Given the description of an element on the screen output the (x, y) to click on. 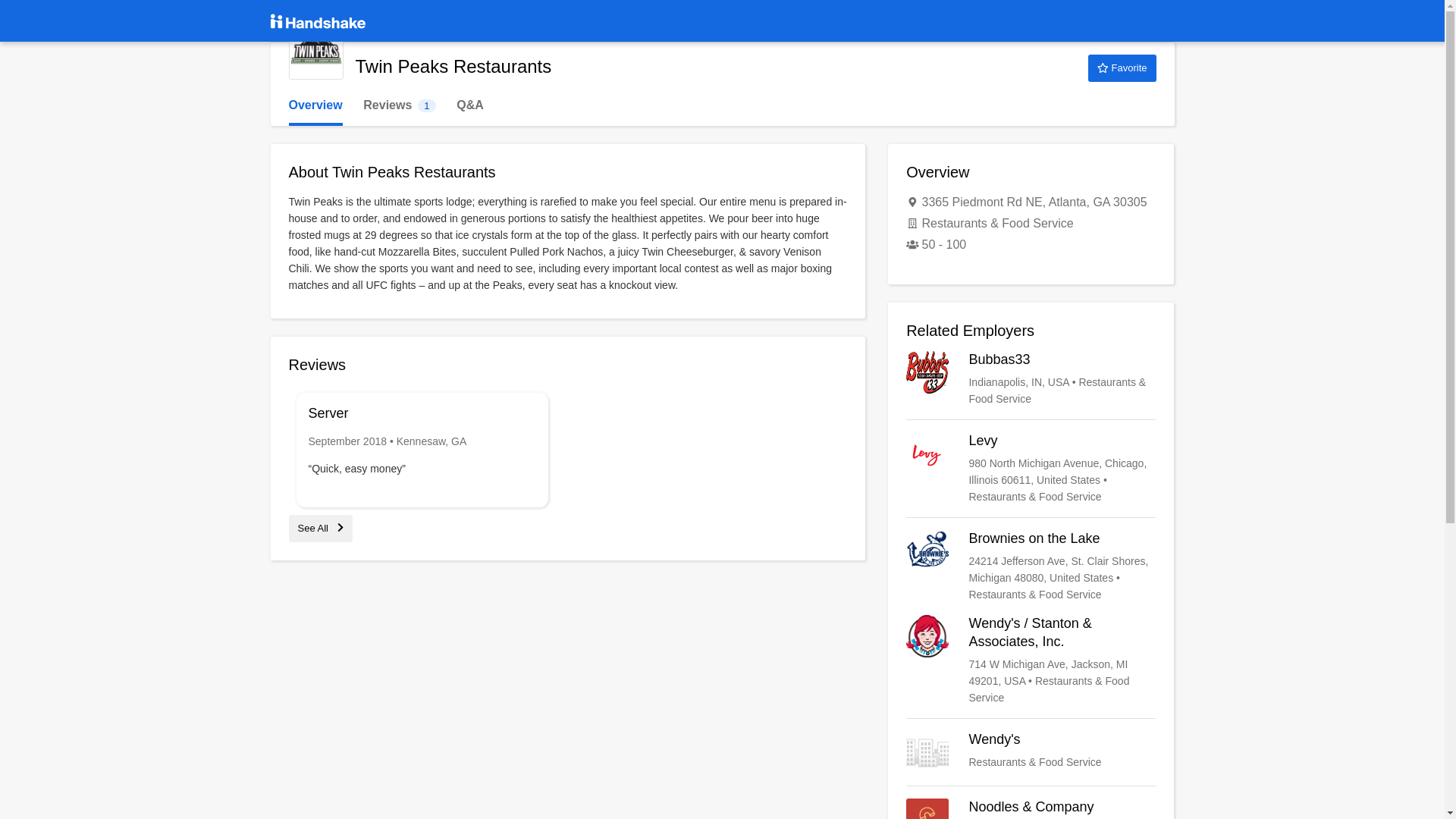
Brownies on the Lake (1030, 565)
Twin Peaks Restaurants (315, 52)
Favorite (1121, 67)
See All (398, 105)
Wendy's (320, 527)
Bubbas33 (1030, 752)
Levy (1030, 379)
Overview (1030, 468)
